Given the description of an element on the screen output the (x, y) to click on. 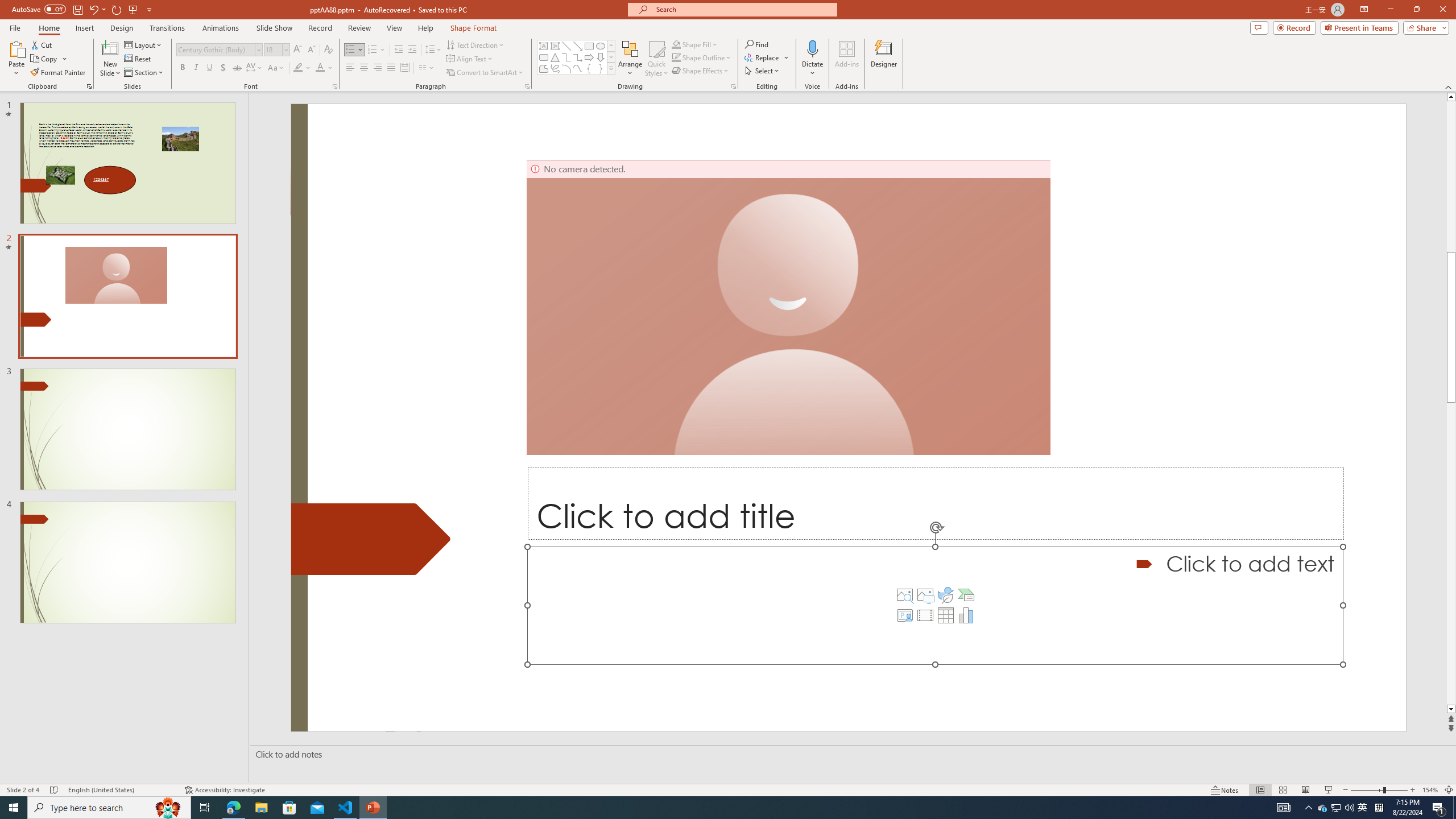
Rotated, White (790, 56)
Send Backward (1204, 58)
Picture Effects (1072, 56)
Compress Pictures... (217, 44)
Color (97, 58)
Crop (1345, 48)
